Given the description of an element on the screen output the (x, y) to click on. 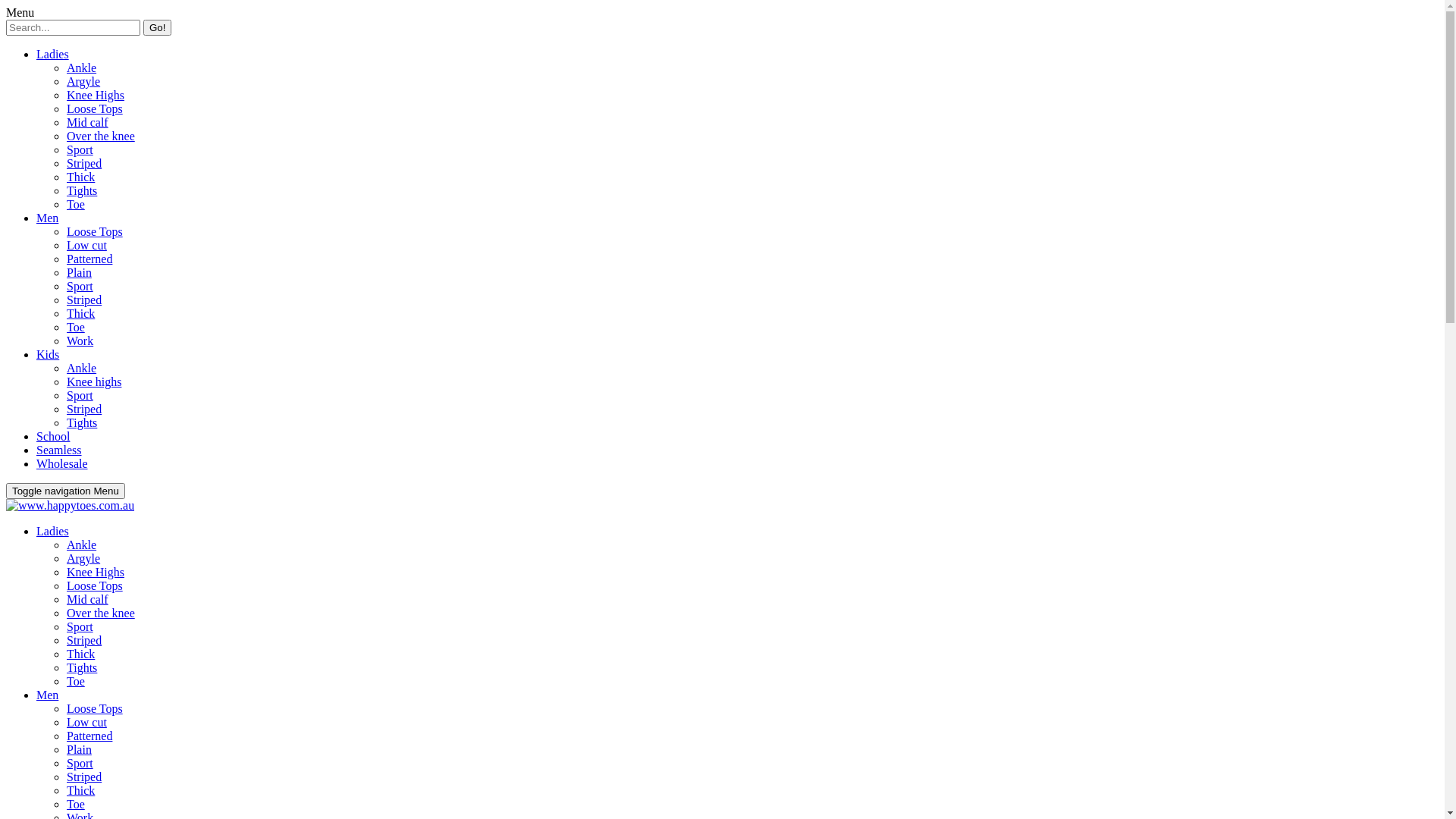
Ladies Element type: text (52, 530)
Wholesale Element type: text (61, 463)
Thick Element type: text (80, 176)
Seamless Element type: text (58, 449)
Thick Element type: text (80, 790)
Loose Tops Element type: text (94, 108)
Striped Element type: text (83, 408)
Ladies Element type: text (52, 53)
Sport Element type: text (79, 285)
Loose Tops Element type: text (94, 708)
Loose Tops Element type: text (94, 585)
Men Element type: text (47, 694)
Low cut Element type: text (86, 244)
Knee highs Element type: text (93, 381)
Sport Element type: text (79, 626)
Thick Element type: text (80, 313)
Patterned Element type: text (89, 258)
Argyle Element type: text (83, 558)
Toe Element type: text (75, 203)
Argyle Element type: text (83, 81)
Low cut Element type: text (86, 721)
Sport Element type: text (79, 395)
Plain Element type: text (78, 749)
Loose Tops Element type: text (94, 231)
Striped Element type: text (83, 776)
Plain Element type: text (78, 272)
Patterned Element type: text (89, 735)
Kids Element type: text (47, 354)
Striped Element type: text (83, 639)
Tights Element type: text (81, 422)
Toe Element type: text (75, 680)
Ankle Element type: text (81, 544)
Tights Element type: text (81, 667)
School Element type: text (52, 435)
Go! Element type: text (157, 27)
Ankle Element type: text (81, 367)
Knee Highs Element type: text (95, 94)
Thick Element type: text (80, 653)
Knee Highs Element type: text (95, 571)
Toggle navigation Menu Element type: text (65, 490)
Sport Element type: text (79, 149)
Work Element type: text (79, 340)
Over the knee Element type: text (100, 135)
Mid calf Element type: text (87, 599)
Striped Element type: text (83, 162)
Men Element type: text (47, 217)
Sport Element type: text (79, 762)
Toe Element type: text (75, 326)
Toe Element type: text (75, 803)
Over the knee Element type: text (100, 612)
Mid calf Element type: text (87, 122)
Ankle Element type: text (81, 67)
Tights Element type: text (81, 190)
Striped Element type: text (83, 299)
